Given the description of an element on the screen output the (x, y) to click on. 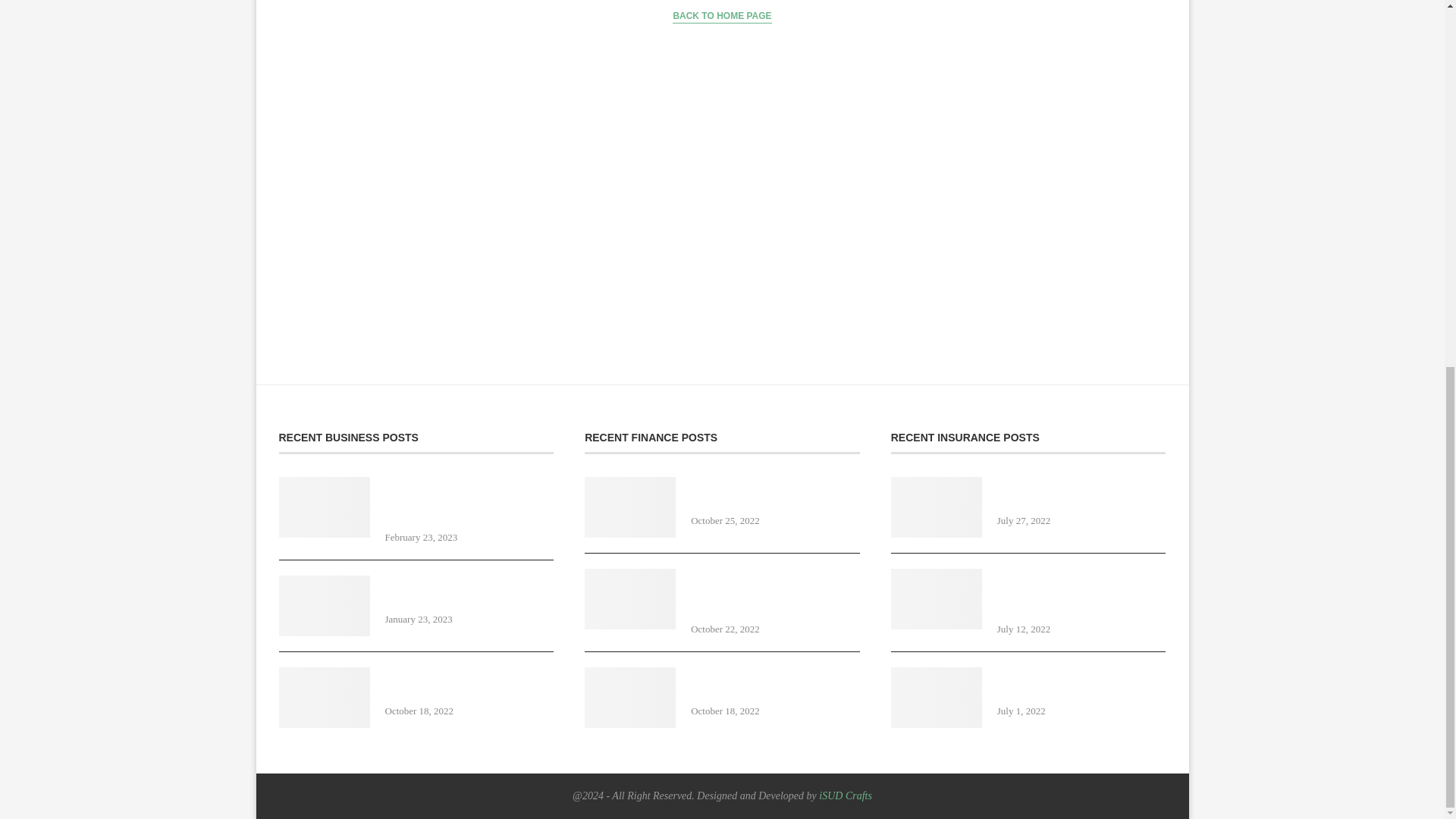
Pros and Cons of Selling Life Insurance Policy (936, 506)
Reseller Business Opportunities (324, 697)
Money Saving Tips for Families Living on One Income  (775, 593)
iSUD Crafts (845, 795)
Investing 5 Dollars a Day can Change Your Life (775, 493)
Reseller Business Opportunities (775, 684)
